Given the description of an element on the screen output the (x, y) to click on. 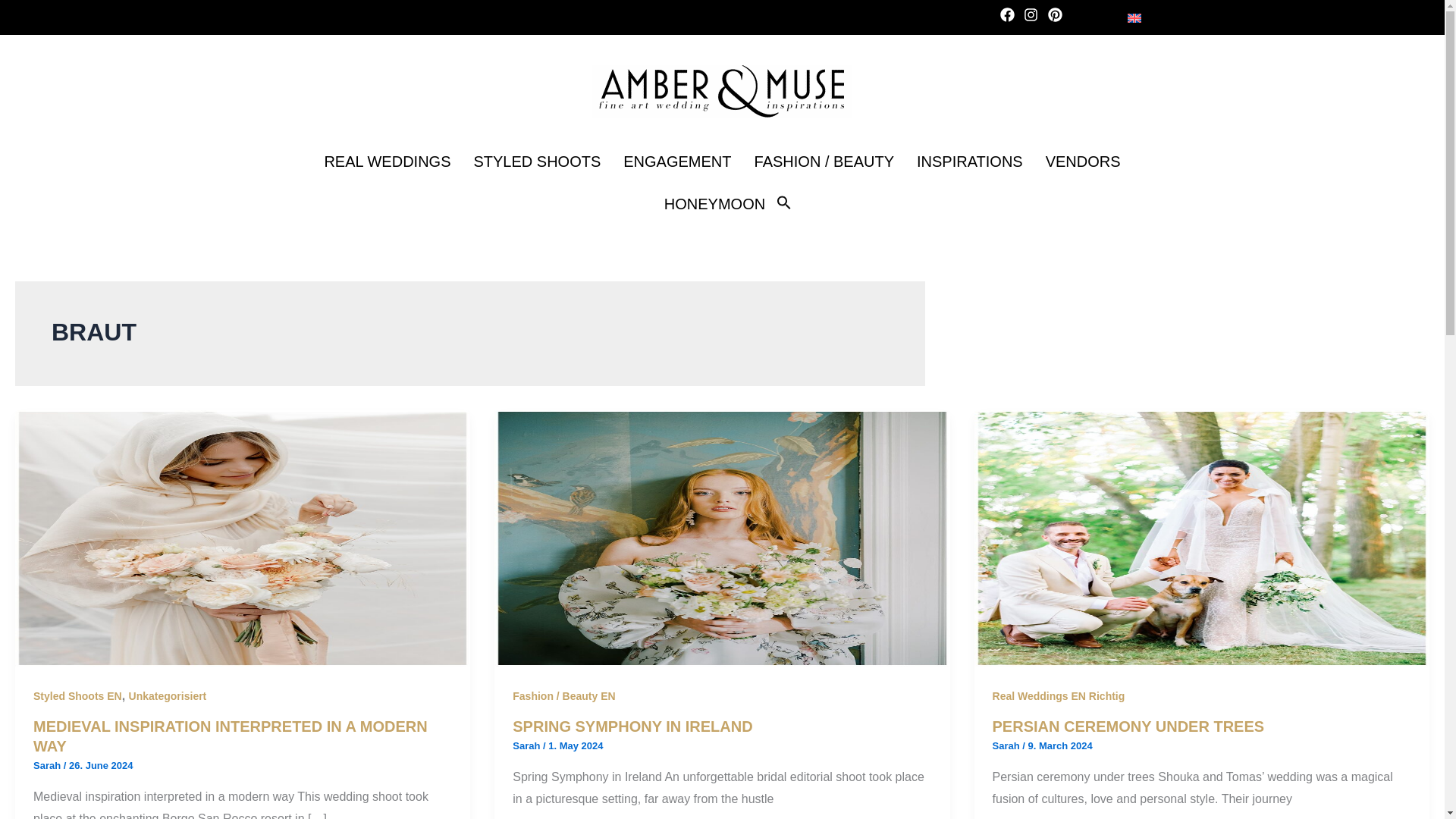
HONEYMOON (714, 203)
Facebook (1010, 17)
View all posts by Sarah (1007, 745)
STYLED SHOOTS (536, 161)
Sarah (1007, 745)
Unkategorisiert (167, 695)
Styled Shoots EN (77, 695)
Real Weddings EN Richtig (1058, 695)
Instagram (1033, 17)
View all posts by Sarah (48, 765)
